Given the description of an element on the screen output the (x, y) to click on. 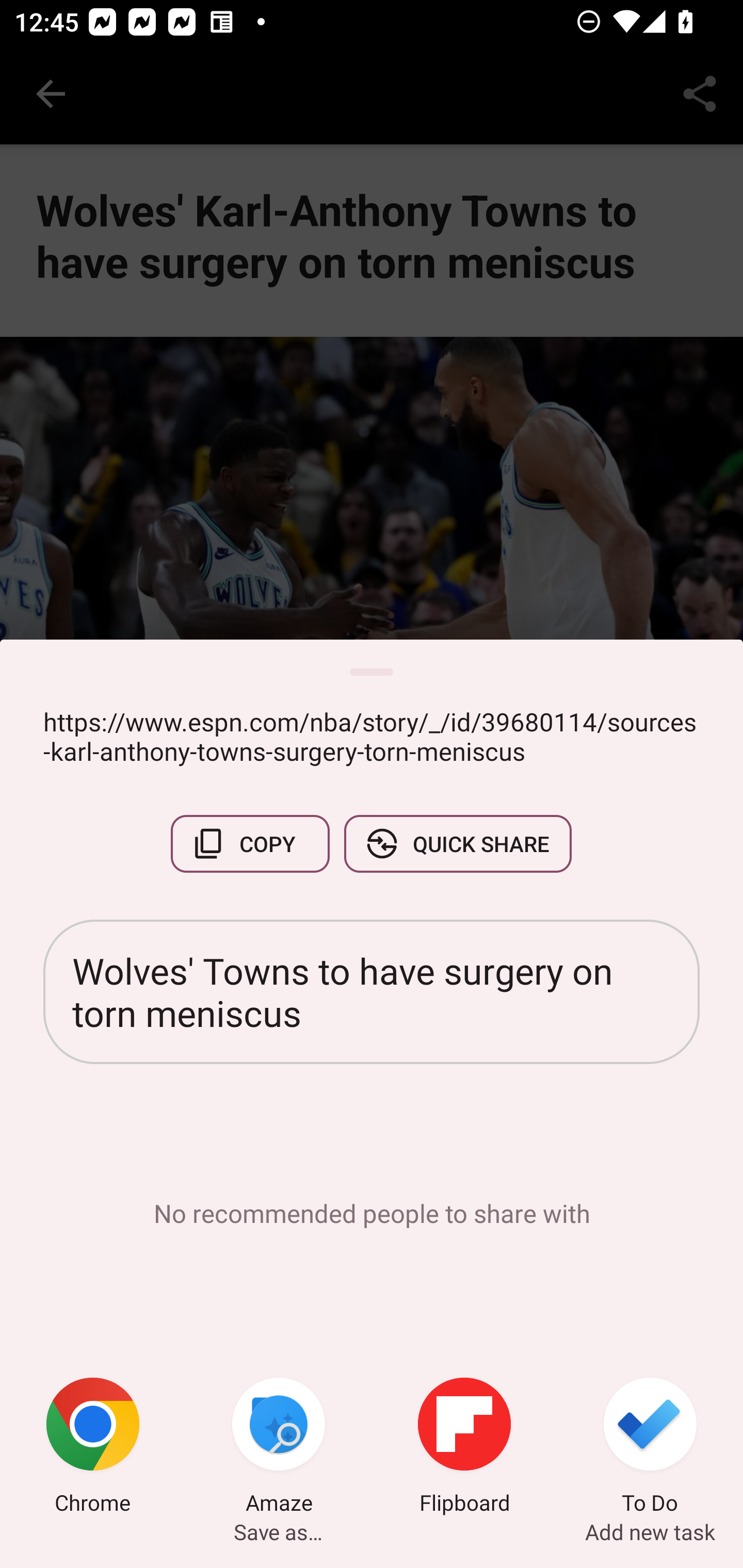
COPY (249, 844)
QUICK SHARE (457, 844)
Chrome (92, 1448)
Amaze Save as… (278, 1448)
Flipboard (464, 1448)
To Do Add new task (650, 1448)
